Given the description of an element on the screen output the (x, y) to click on. 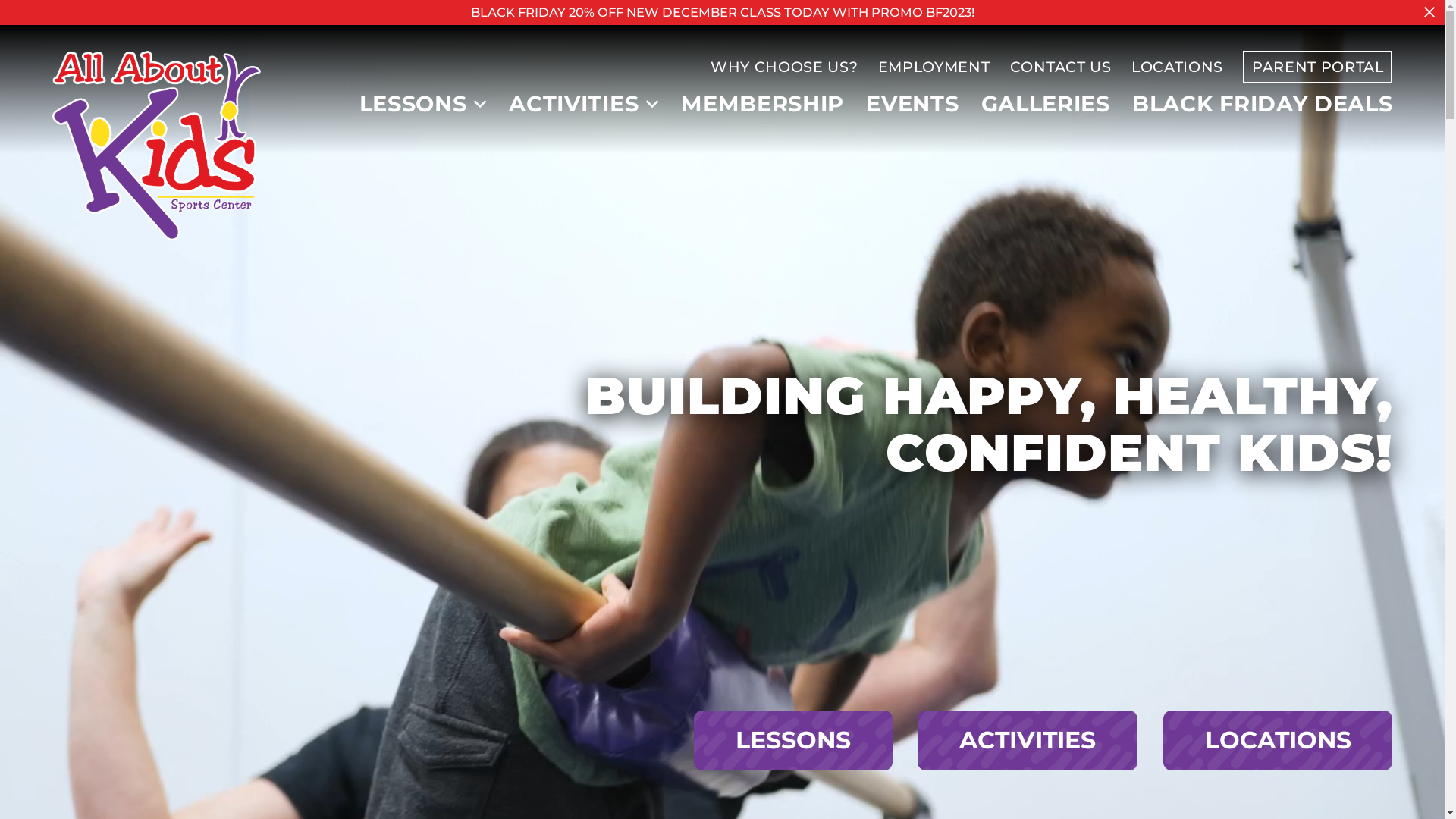
All About Kids Element type: hover (156, 145)
LESSONS Element type: text (413, 104)
LESSONS Element type: text (792, 740)
PARENT PORTAL Element type: text (1317, 66)
ACTIVITIES Element type: text (573, 104)
LOCATIONS Element type: text (1278, 740)
BLACK FRIDAY DEALS Element type: text (1262, 104)
GALLERIES Element type: text (1045, 104)
WHY CHOOSE US? Element type: text (784, 66)
EMPLOYMENT Element type: text (934, 66)
ACTIVITIES Element type: text (1027, 740)
EVENTS Element type: text (912, 104)
MEMBERSHIP Element type: text (762, 104)
100%
Money Back Guarantee Element type: text (93, 582)
CONTACT US Element type: text (1060, 66)
LOCATIONS Element type: text (1177, 66)
